Given the description of an element on the screen output the (x, y) to click on. 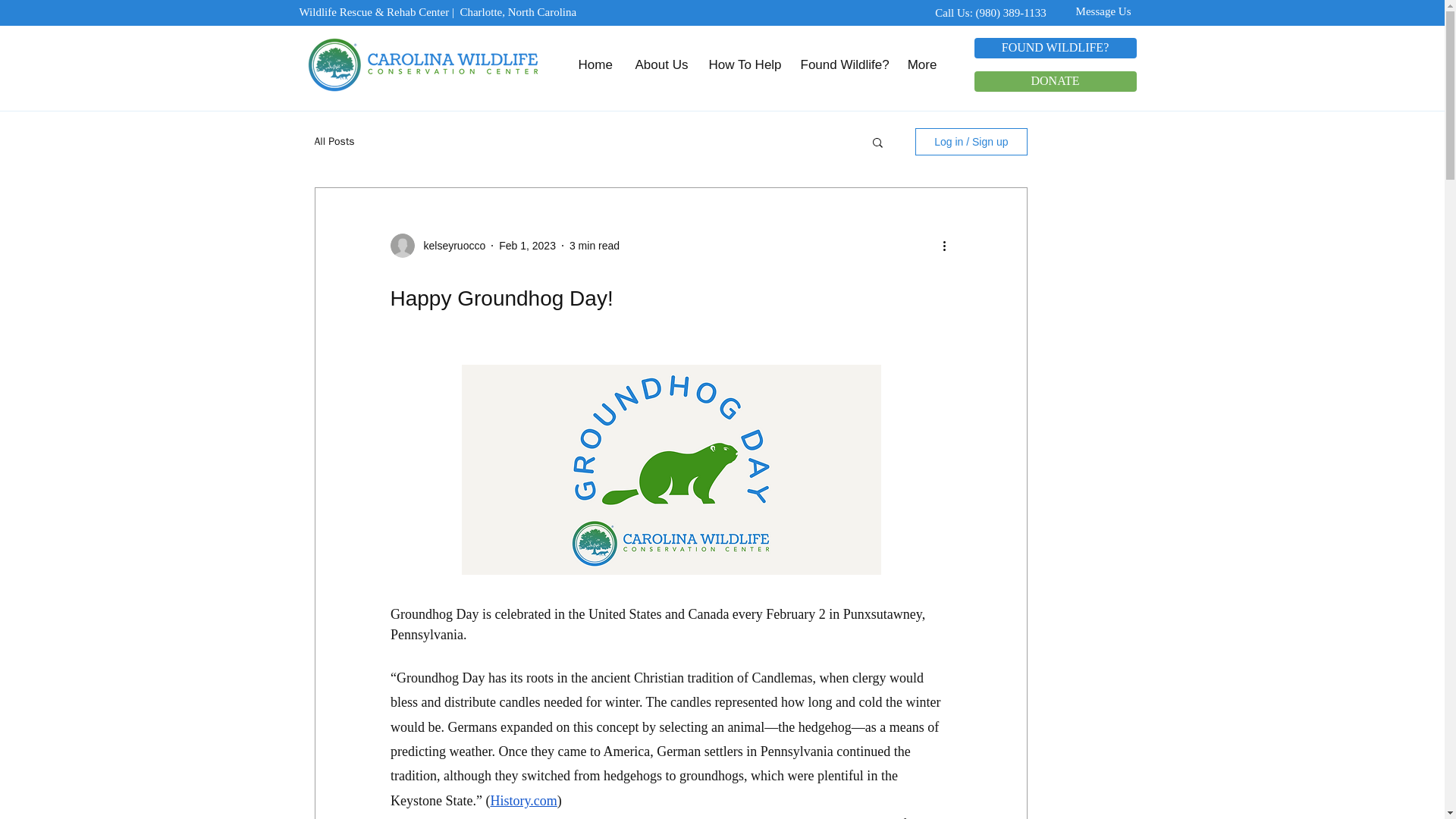
kelseyruocco (448, 245)
FOUND WILDLIFE? (1054, 47)
DONATE (1054, 81)
History.com (522, 800)
3 min read (594, 245)
Feb 1, 2023 (527, 245)
Home (595, 64)
Message Us (1095, 11)
All Posts (333, 141)
